Given the description of an element on the screen output the (x, y) to click on. 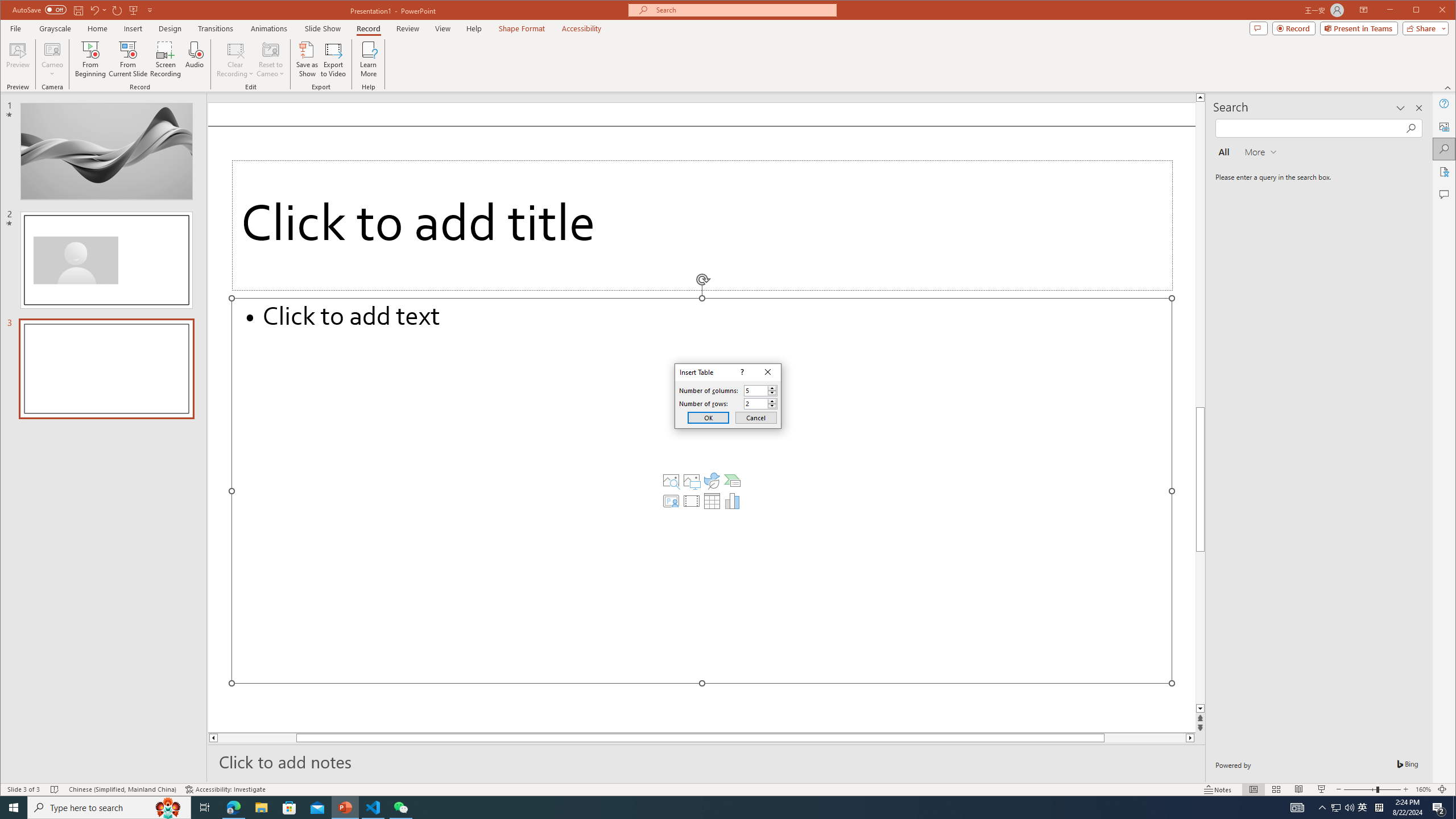
Action Center, 2 new notifications (1439, 807)
Page up (1200, 302)
Grayscale (55, 28)
Insert Table (711, 501)
Number of columns (760, 390)
From Current Slide... (127, 59)
Slide Notes (706, 761)
